Given the description of an element on the screen output the (x, y) to click on. 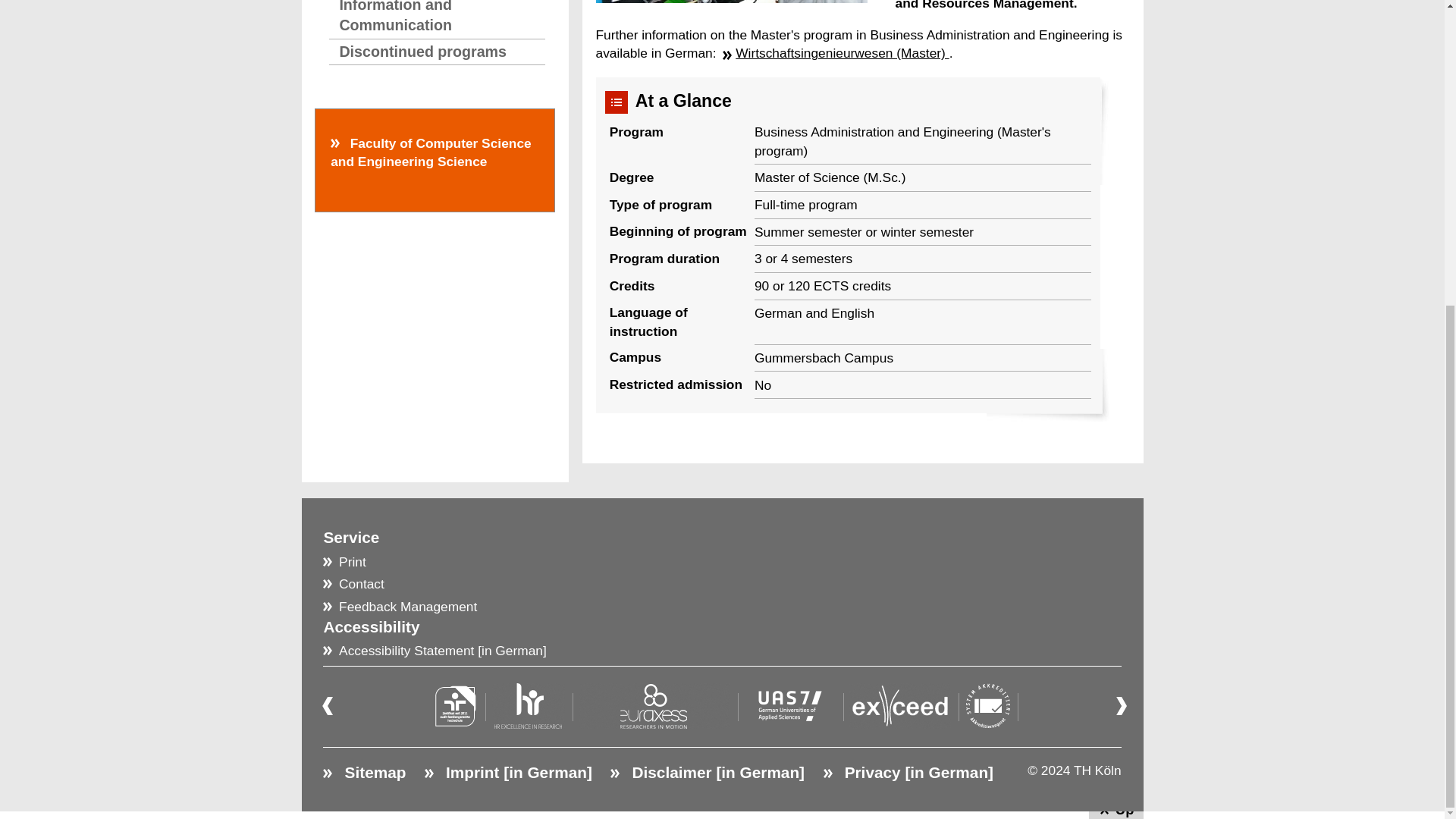
Sitemap (364, 771)
